Given the description of an element on the screen output the (x, y) to click on. 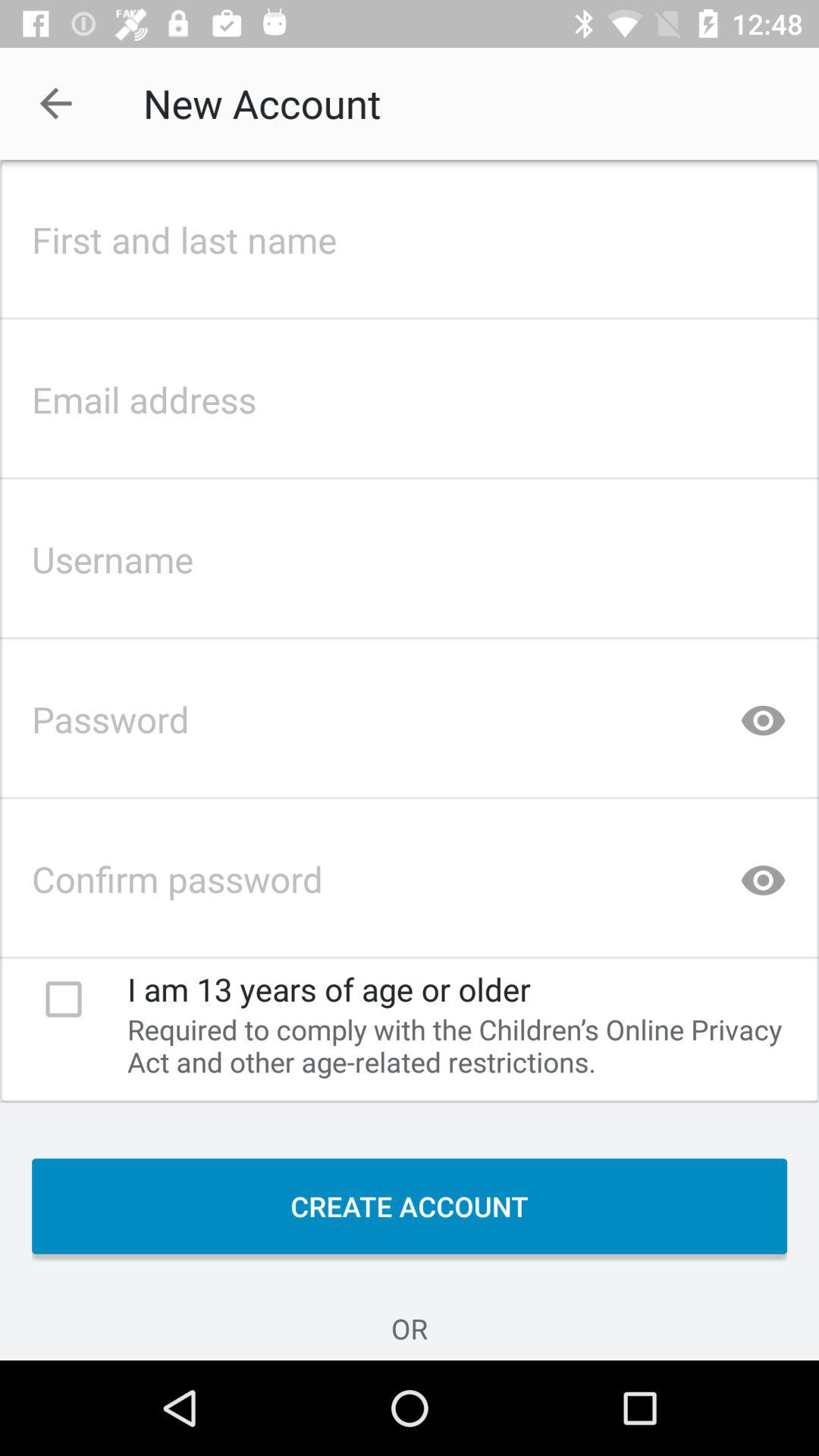
show password (763, 874)
